Given the description of an element on the screen output the (x, y) to click on. 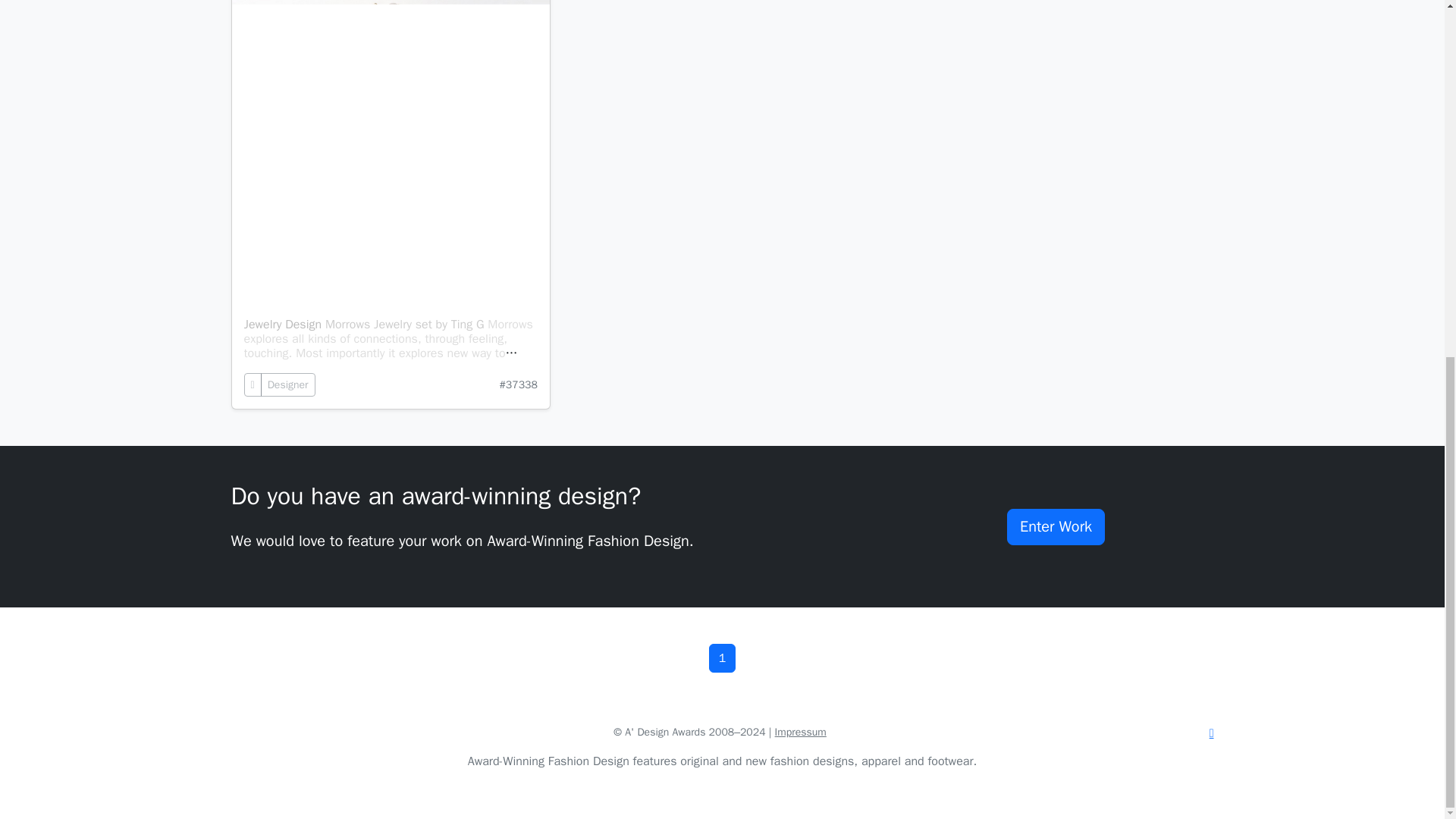
1 (722, 657)
Designer (287, 384)
Impressum (800, 731)
Enter Work (1056, 526)
